Given the description of an element on the screen output the (x, y) to click on. 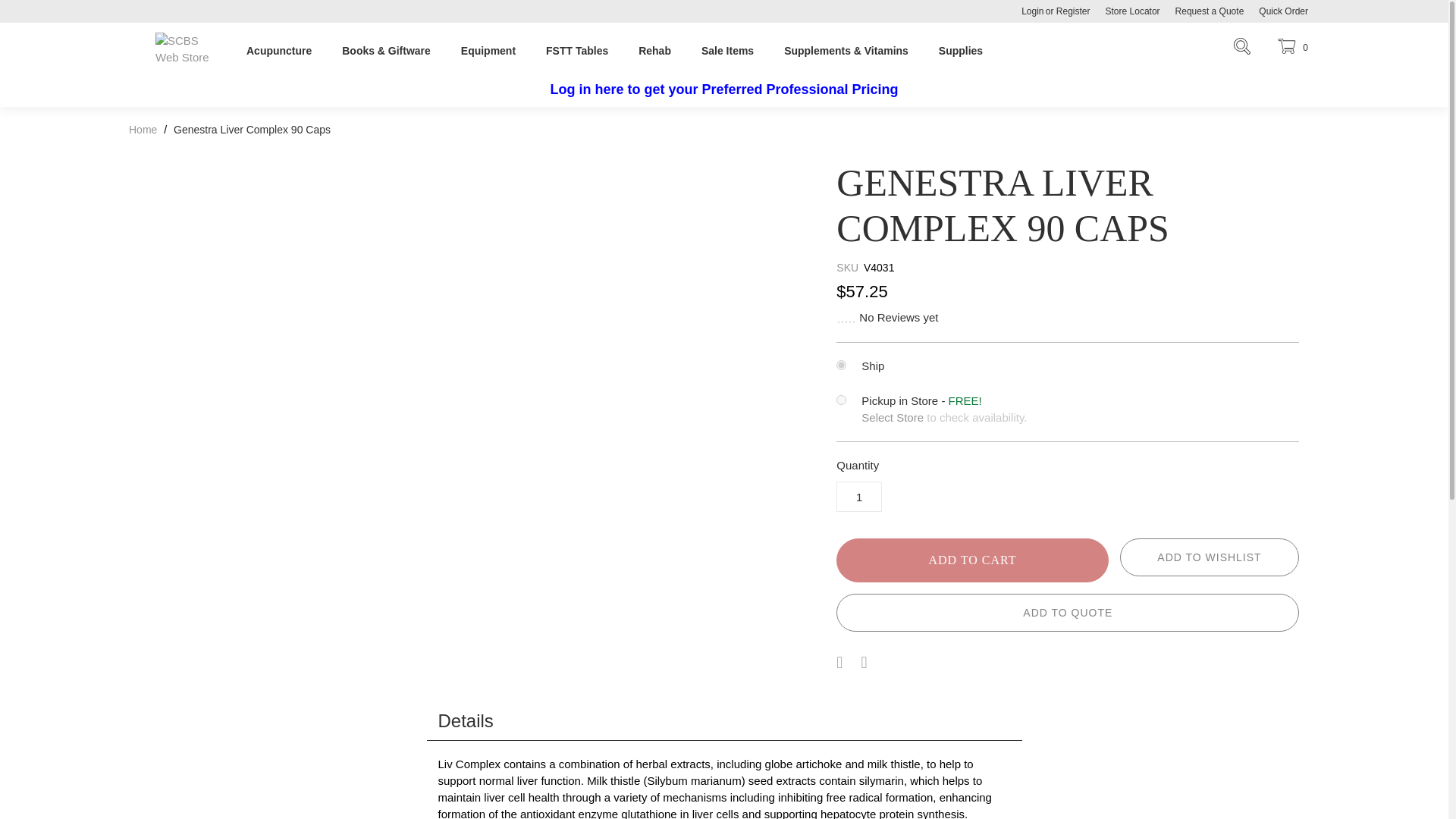
Store Locator (1132, 11)
Acupuncture (278, 47)
on (840, 365)
Request a Quote (1209, 11)
Register (1077, 11)
Request a Quote (1209, 11)
Quick Order (1283, 11)
SCBS Web Store (187, 56)
Cart (1291, 47)
Store Locator (1132, 11)
